Given the description of an element on the screen output the (x, y) to click on. 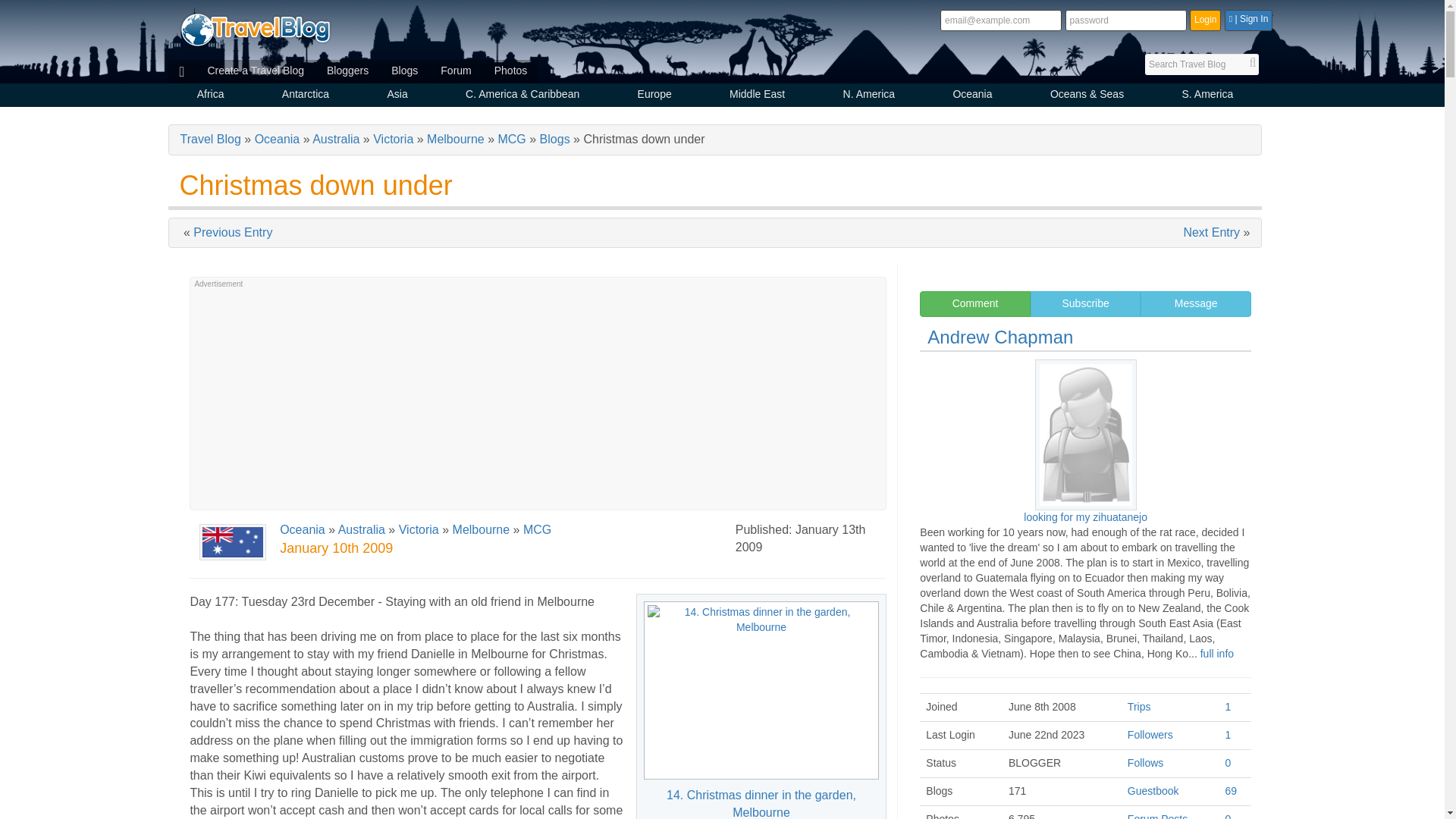
Africa (210, 95)
Photos (510, 71)
S. America (1207, 95)
Middle East (756, 95)
Asia (397, 95)
Login (1205, 20)
Sign in with Facebook (1248, 20)
Login (1205, 20)
Blogs (404, 71)
Bloggers (347, 71)
Europe (654, 95)
Forum (455, 71)
14. Christmas dinner in the garden, Melbourne (761, 690)
Create a Travel Blog (255, 71)
Travel Blog (255, 29)
